Given the description of an element on the screen output the (x, y) to click on. 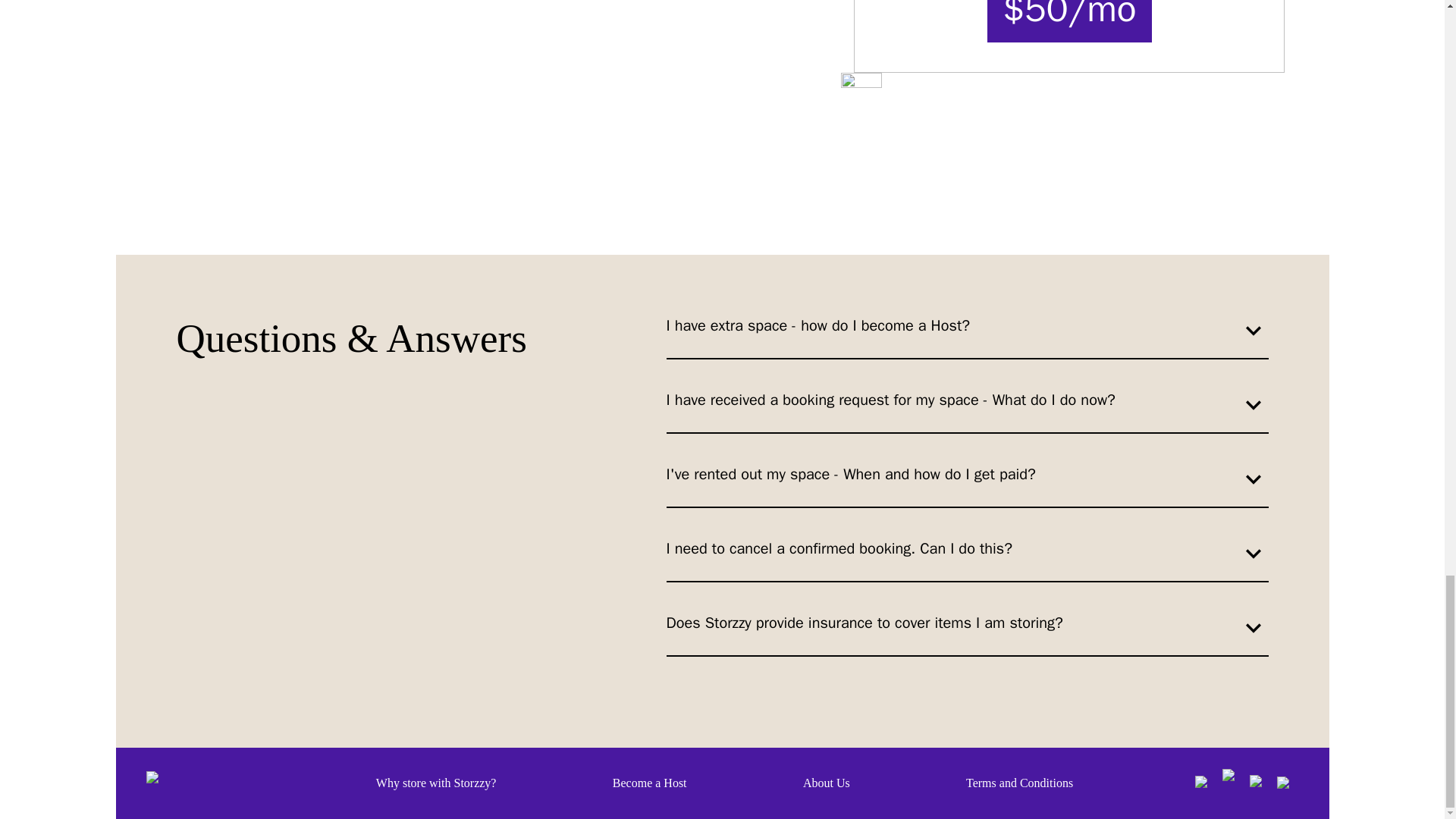
Terms and Conditions (1019, 782)
About Us (826, 782)
Become a Host (649, 782)
Why store with Storzzy? (435, 782)
